Given the description of an element on the screen output the (x, y) to click on. 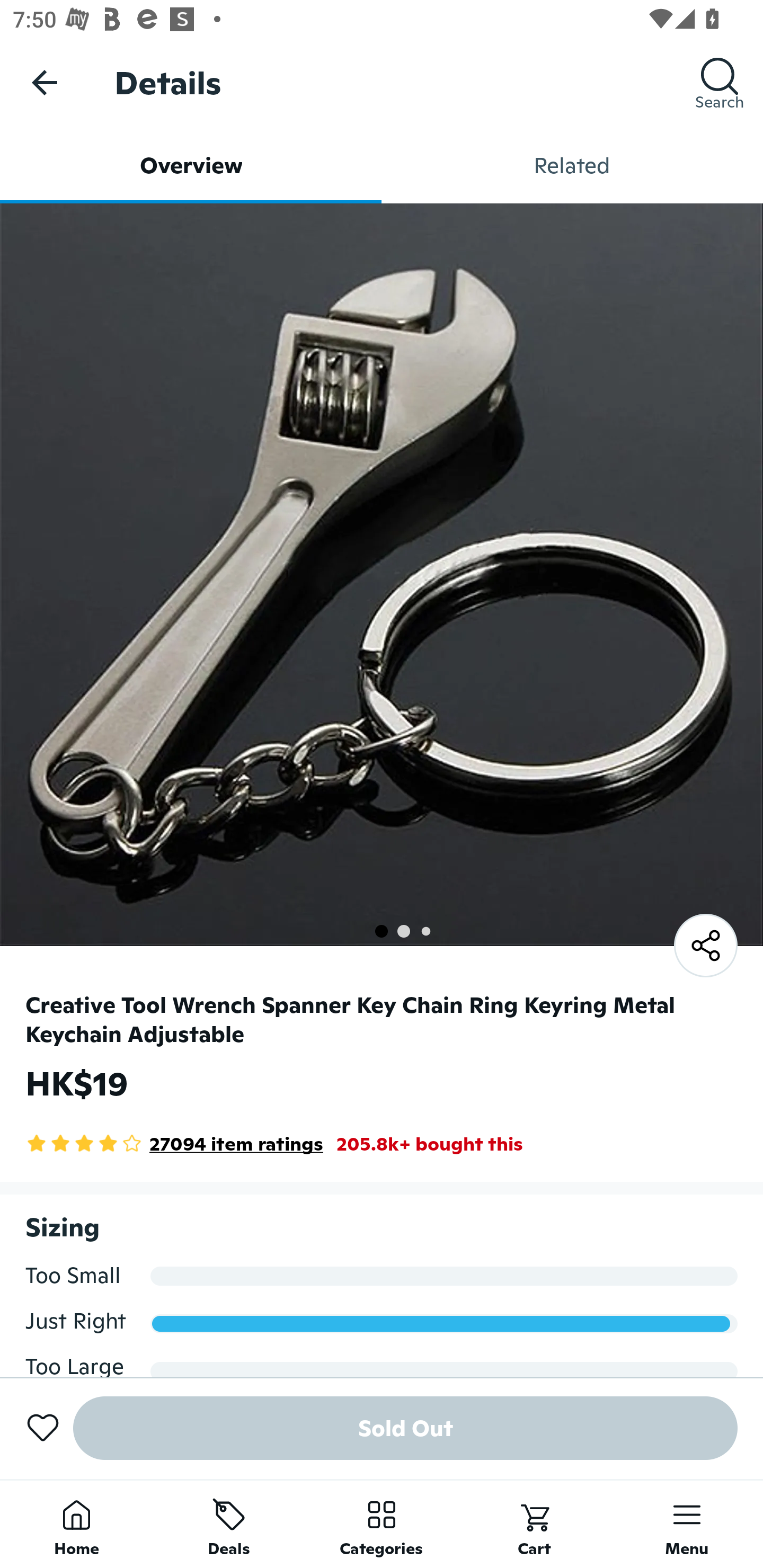
Navigate up (44, 82)
Search (719, 82)
Related (572, 165)
4 Star Rating 27094 item ratings (174, 1143)
Sold Out (405, 1428)
Home (76, 1523)
Deals (228, 1523)
Categories (381, 1523)
Cart (533, 1523)
Menu (686, 1523)
